Given the description of an element on the screen output the (x, y) to click on. 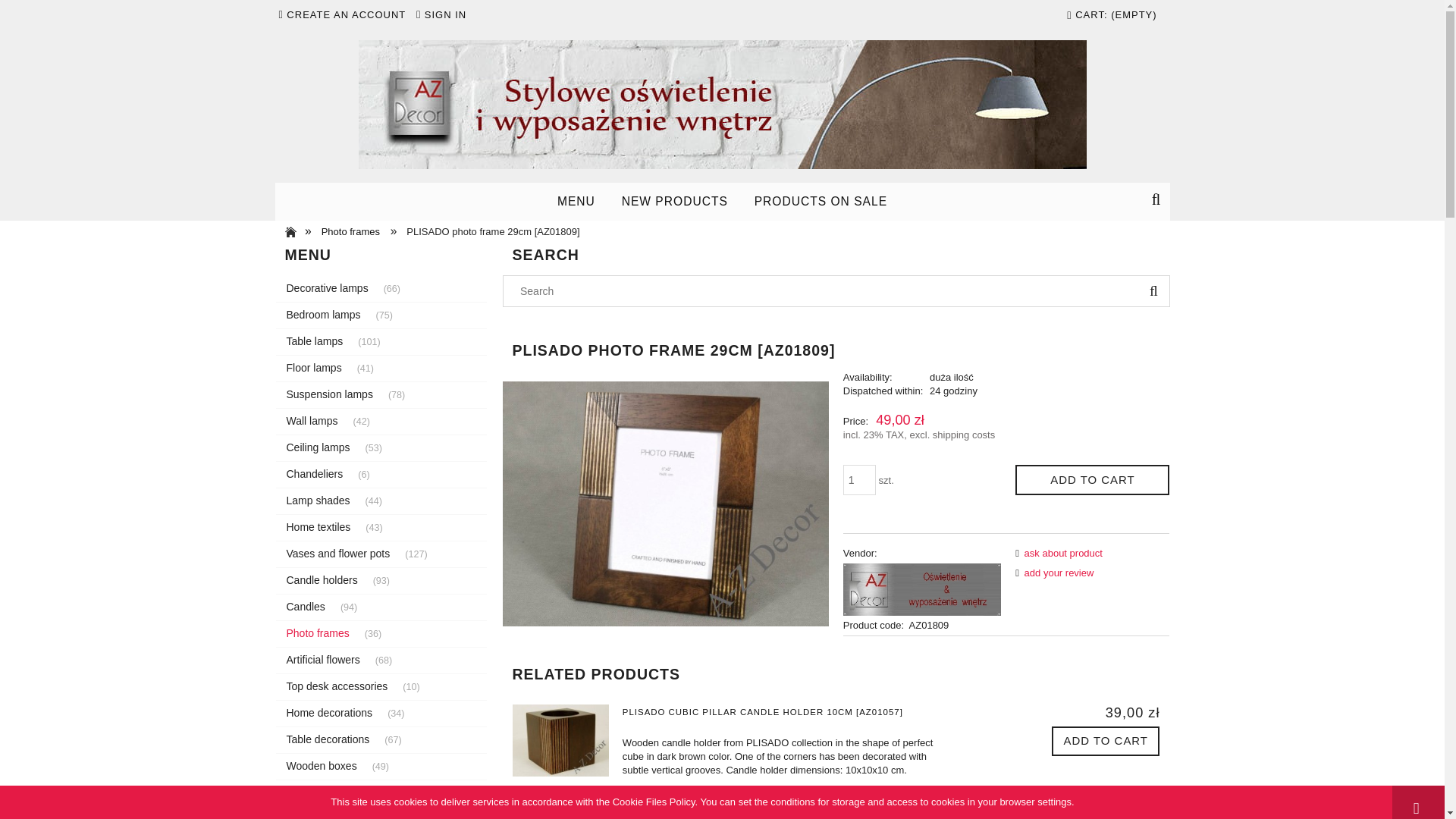
1 (859, 480)
CREATE AN ACCOUNT (346, 14)
SIGN IN (445, 14)
MENU (575, 201)
